Given the description of an element on the screen output the (x, y) to click on. 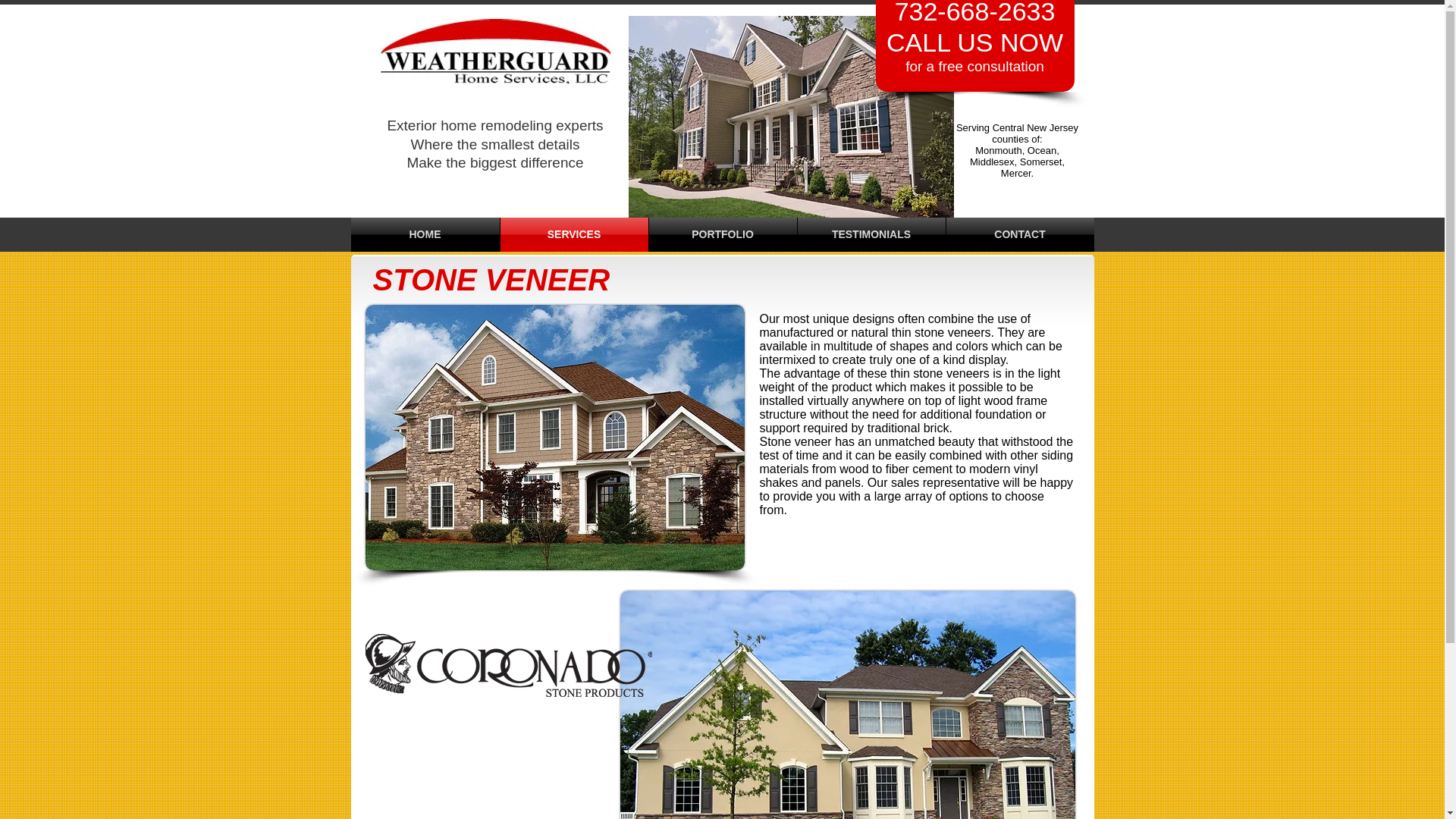
TESTIMONIALS (870, 234)
SERVICES (573, 234)
PORTFOLIO (722, 234)
HOME (424, 234)
CONTACT (1020, 234)
Stone.jpg (847, 704)
